Given the description of an element on the screen output the (x, y) to click on. 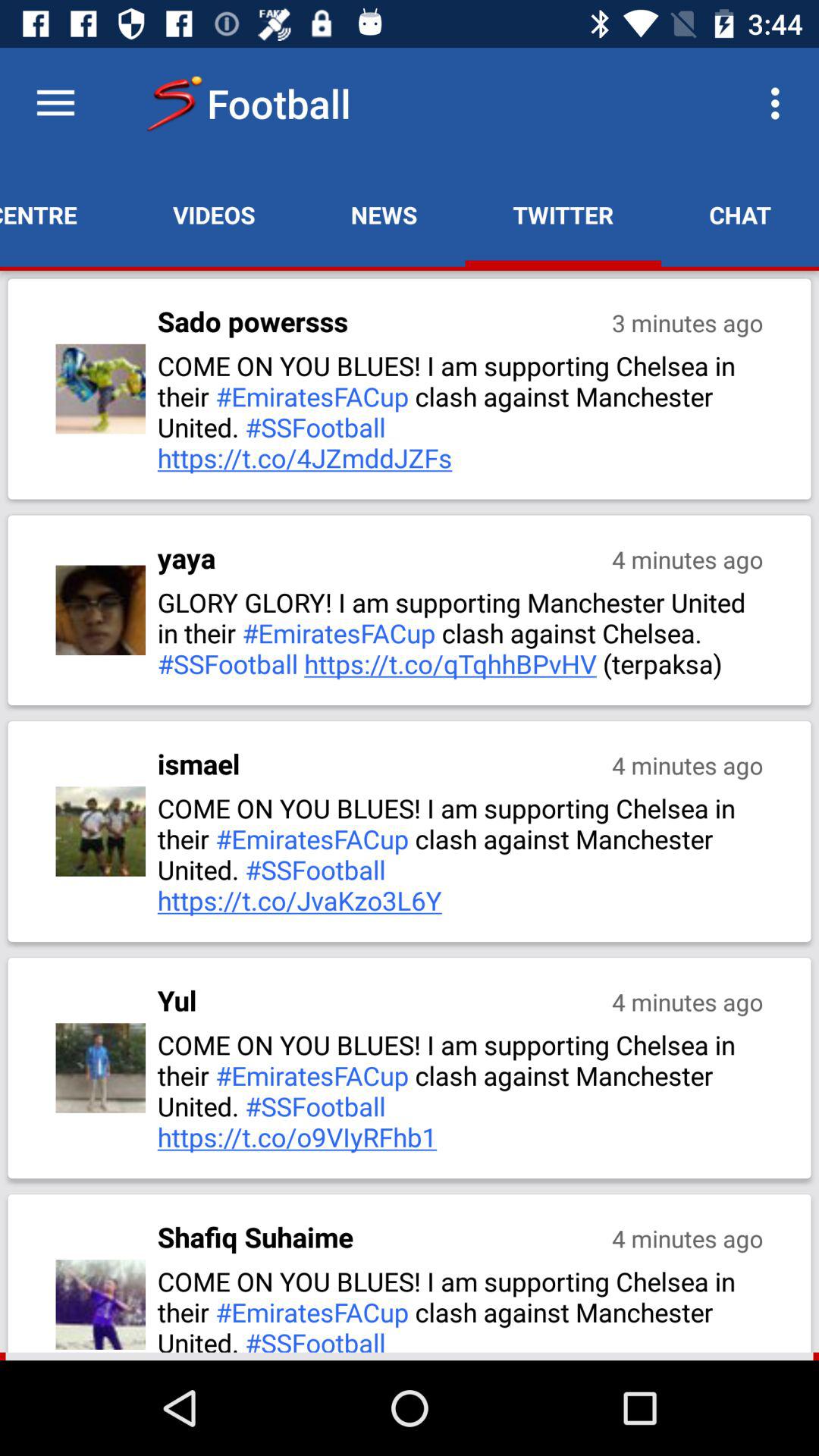
select the item above match centre item (55, 103)
